Given the description of an element on the screen output the (x, y) to click on. 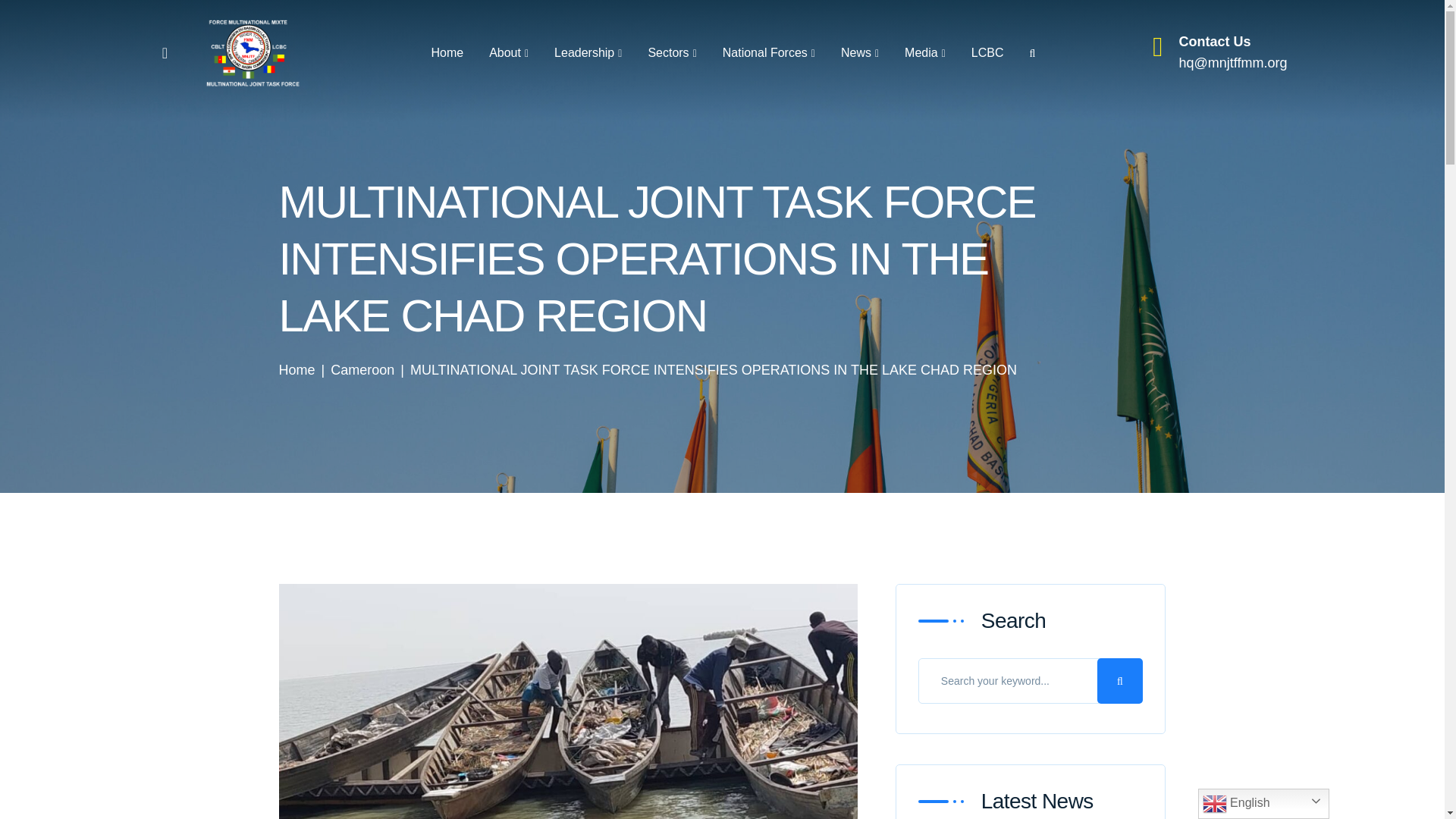
National Forces (768, 53)
Home (297, 369)
Cameroon (362, 369)
Multinational Joint Task Force (252, 51)
